Given the description of an element on the screen output the (x, y) to click on. 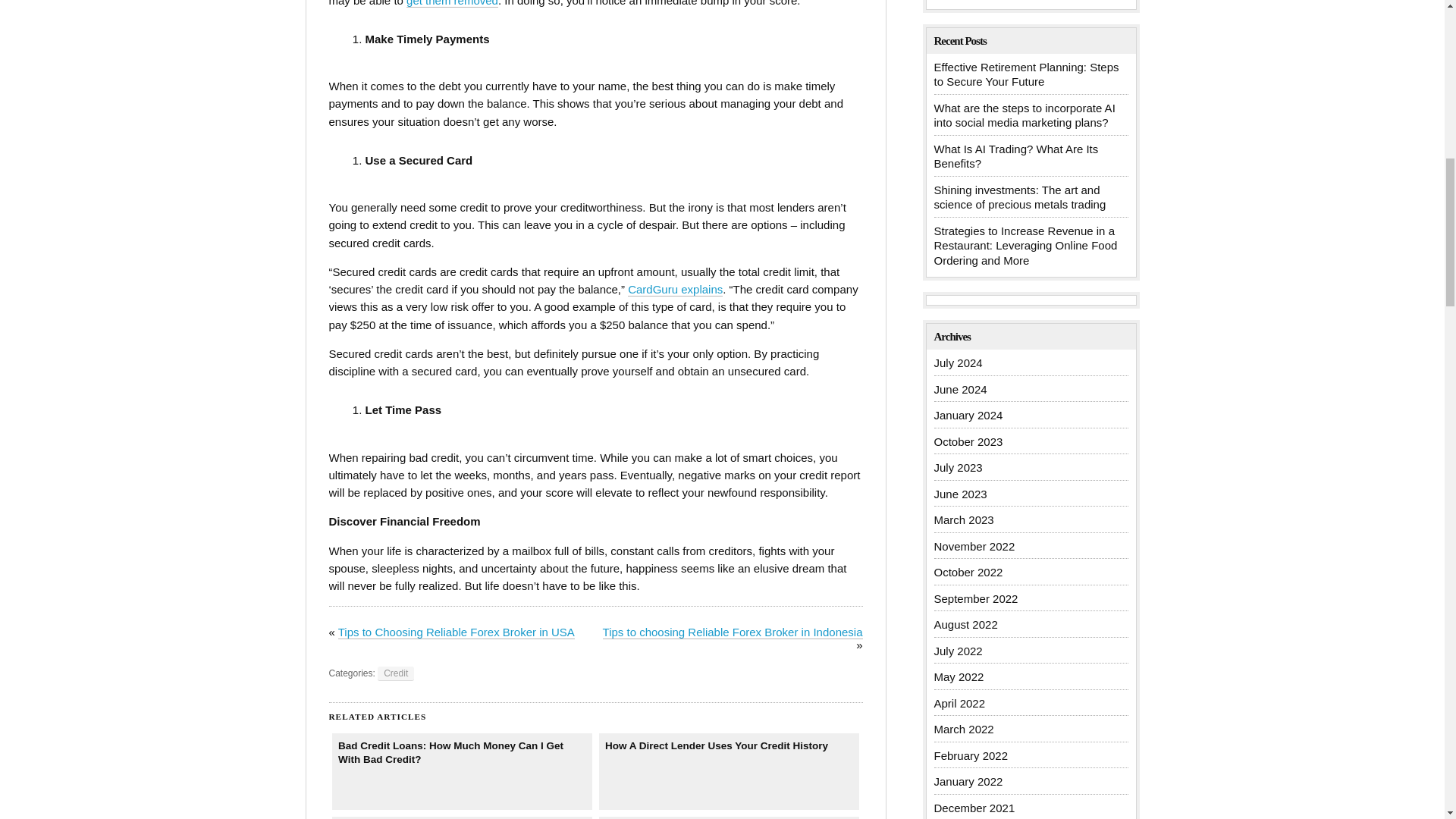
CardGuru explains (674, 289)
Can Commercial Finance Help My Business Restructure? (729, 817)
Tips to choosing Reliable Forex Broker in Indonesia (732, 632)
Bad Credit Loans: How Much Money Can I Get With Bad Credit? (461, 771)
How A Direct Lender Uses Your Credit History (729, 771)
get them removed (451, 3)
Steps To Improve Credit Score (461, 817)
Credit (395, 673)
Tips to Choosing Reliable Forex Broker in USA (456, 632)
